Given the description of an element on the screen output the (x, y) to click on. 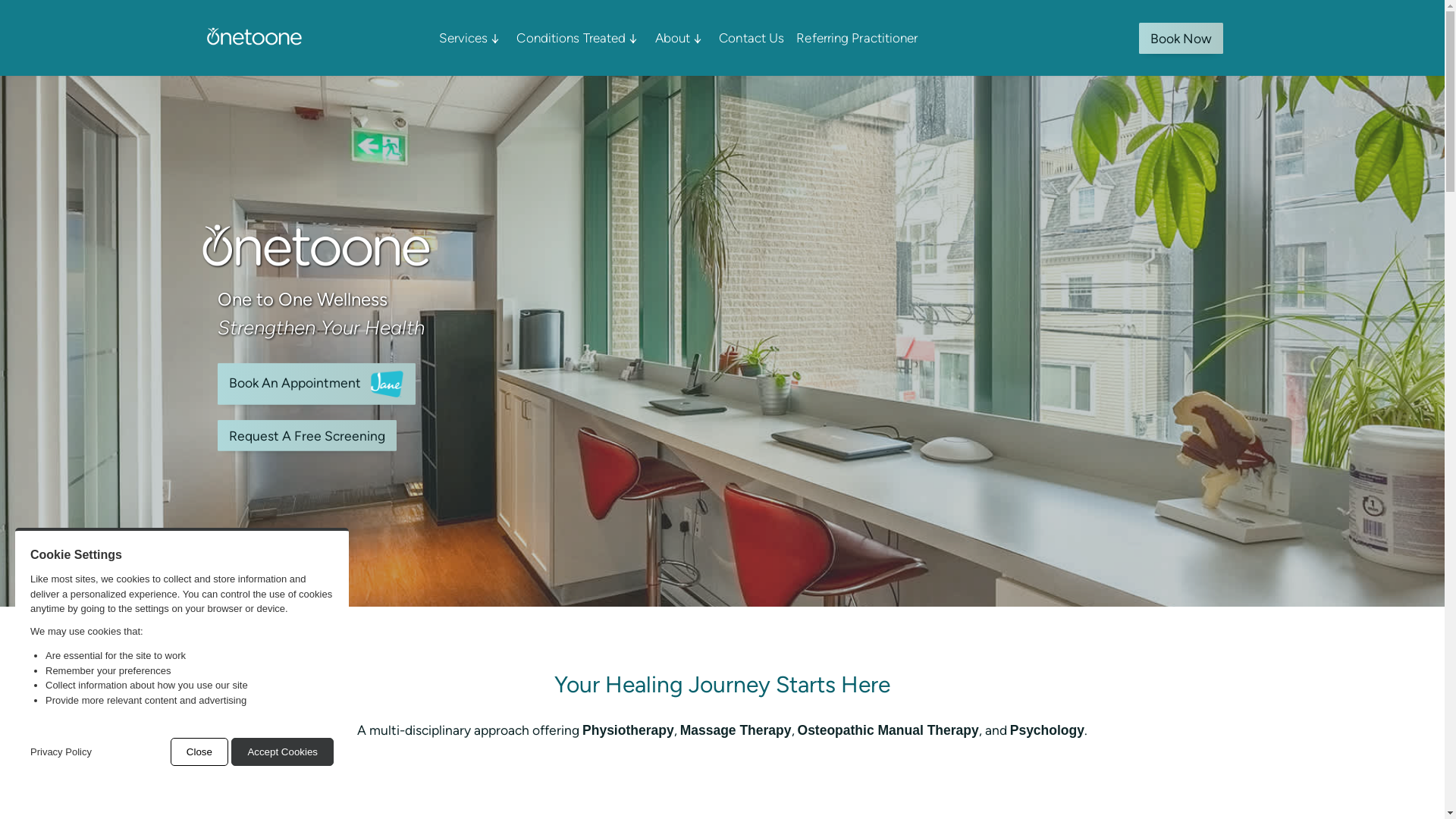
Conditions Treated Element type: text (578, 37)
Close Element type: text (199, 751)
About Element type: text (681, 37)
Request A Free Screening Element type: text (306, 435)
Referring Practitioner Element type: text (856, 37)
Book Now Element type: text (1181, 37)
Contact Us Element type: text (752, 37)
Services Element type: text (471, 37)
Accept Cookies Element type: text (282, 751)
Book An Appointment   Element type: text (316, 383)
Privacy Policy Element type: text (60, 751)
